Given the description of an element on the screen output the (x, y) to click on. 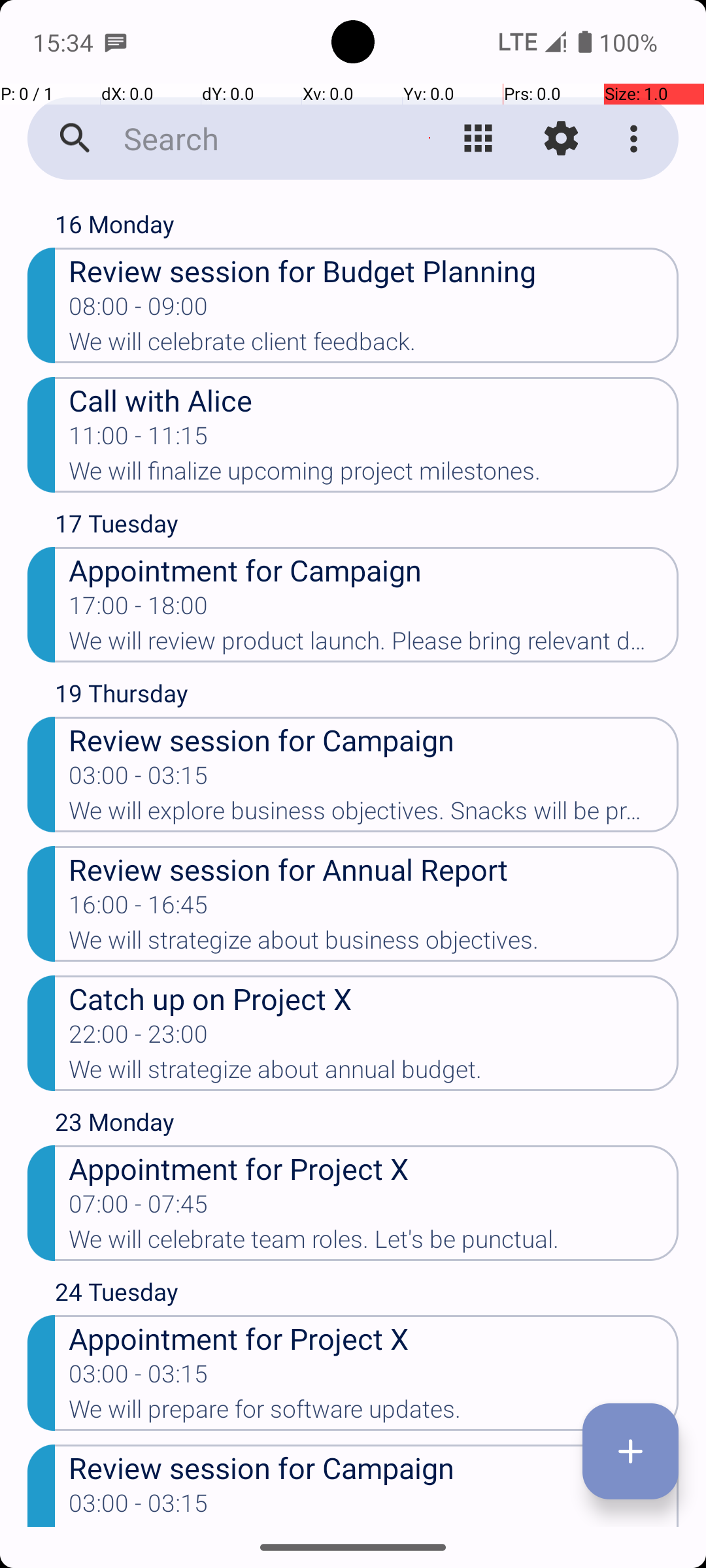
23 Monday Element type: android.widget.TextView (366, 1124)
24 Tuesday Element type: android.widget.TextView (366, 1294)
08:00 - 09:00 Element type: android.widget.TextView (137, 309)
We will celebrate client feedback. Element type: android.widget.TextView (373, 345)
Call with Alice Element type: android.widget.TextView (373, 399)
11:00 - 11:15 Element type: android.widget.TextView (137, 439)
We will finalize upcoming project milestones. Element type: android.widget.TextView (373, 474)
17:00 - 18:00 Element type: android.widget.TextView (137, 609)
We will review product launch. Please bring relevant documents. Element type: android.widget.TextView (373, 644)
03:00 - 03:15 Element type: android.widget.TextView (137, 779)
We will explore business objectives. Snacks will be provided. Element type: android.widget.TextView (373, 814)
16:00 - 16:45 Element type: android.widget.TextView (137, 908)
We will strategize about business objectives. Element type: android.widget.TextView (373, 943)
22:00 - 23:00 Element type: android.widget.TextView (137, 1037)
We will strategize about annual budget. Element type: android.widget.TextView (373, 1073)
07:00 - 07:45 Element type: android.widget.TextView (137, 1207)
We will celebrate team roles. Let's be punctual. Element type: android.widget.TextView (373, 1242)
We will prepare for software updates. Element type: android.widget.TextView (373, 1412)
We will discuss product launch. Remember to confirm attendance. Element type: android.widget.TextView (373, 1525)
